Given the description of an element on the screen output the (x, y) to click on. 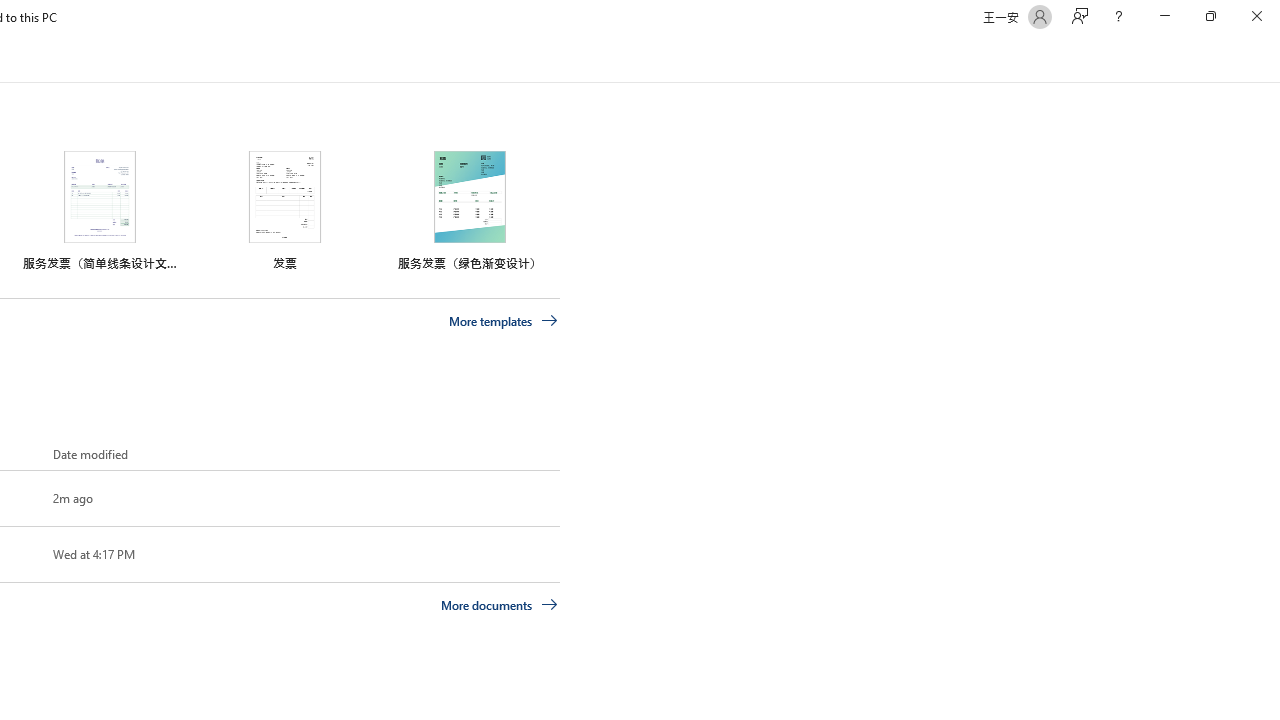
Pin this item to the list (20, 553)
More templates (503, 321)
More documents (499, 604)
